Given the description of an element on the screen output the (x, y) to click on. 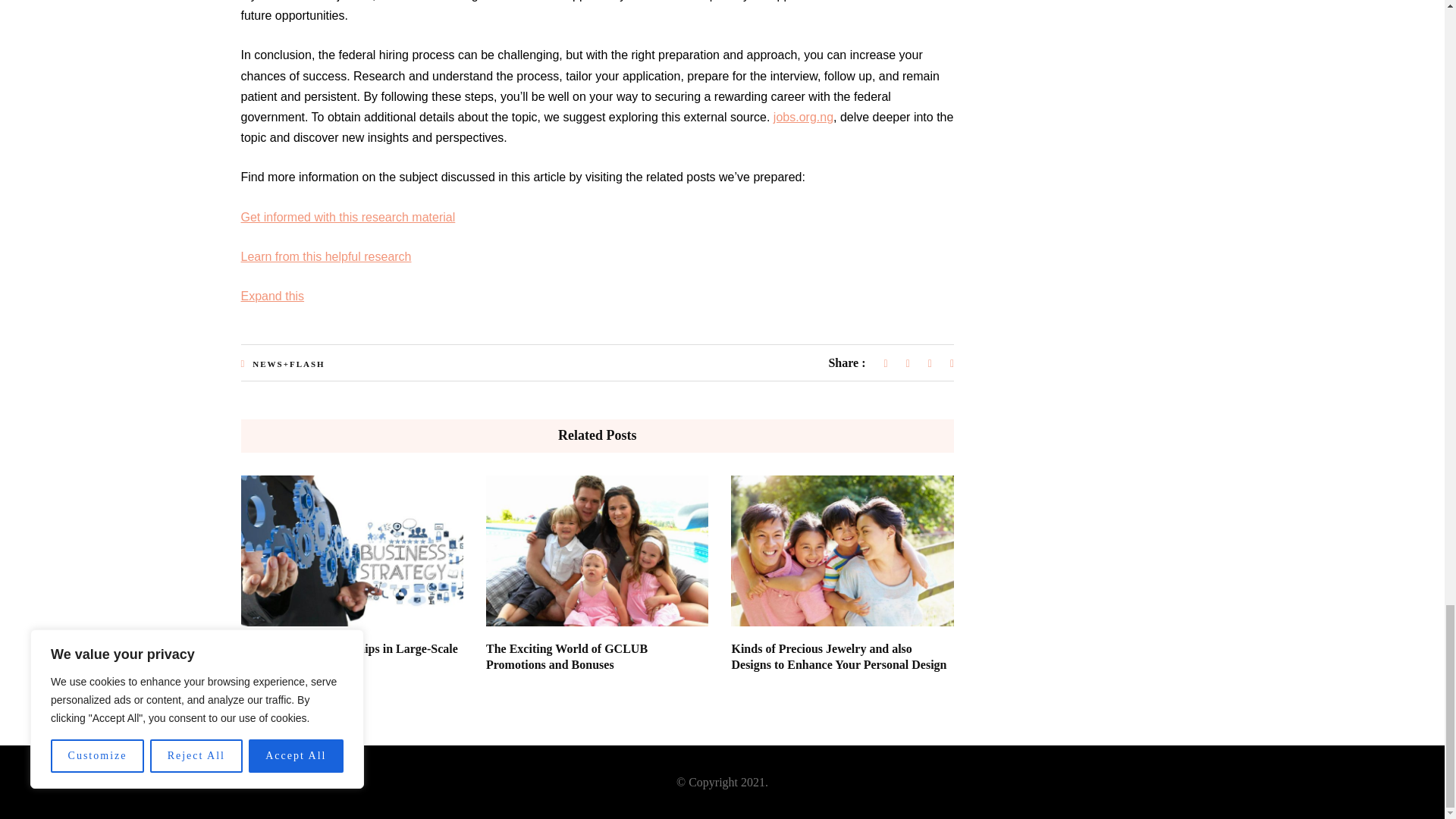
Learn from this helpful research (326, 256)
jobs.org.ng (802, 116)
The Exciting World of GCLUB Promotions and Bonuses (566, 656)
Expand this (272, 295)
Get informed with this research material (348, 216)
